Given the description of an element on the screen output the (x, y) to click on. 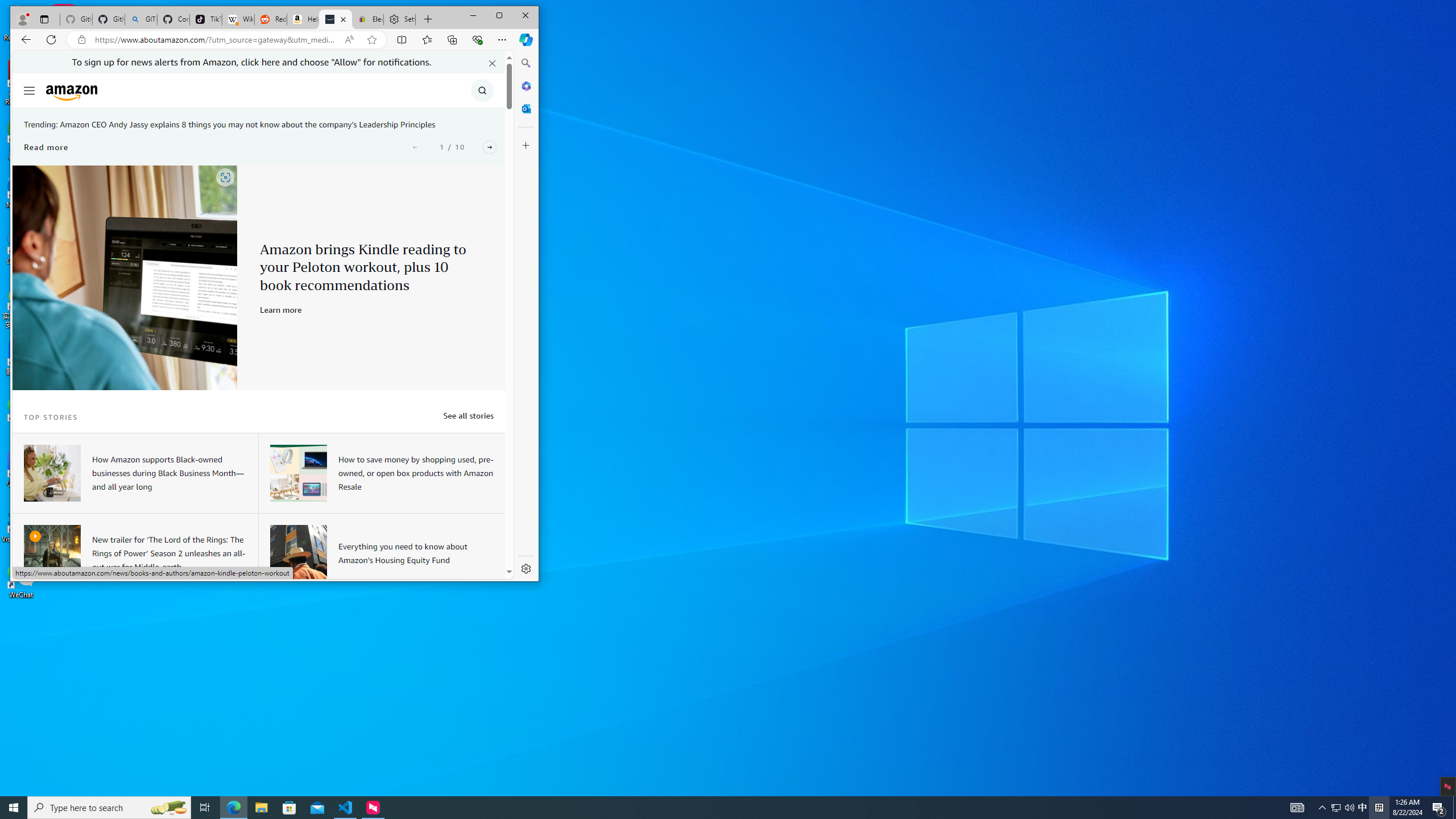
Maximize (499, 15)
Learn more (280, 309)
Class: burger-menu (1362, 807)
Tray Input Indicator - Chinese (Simplified, China) (28, 89)
